Given the description of an element on the screen output the (x, y) to click on. 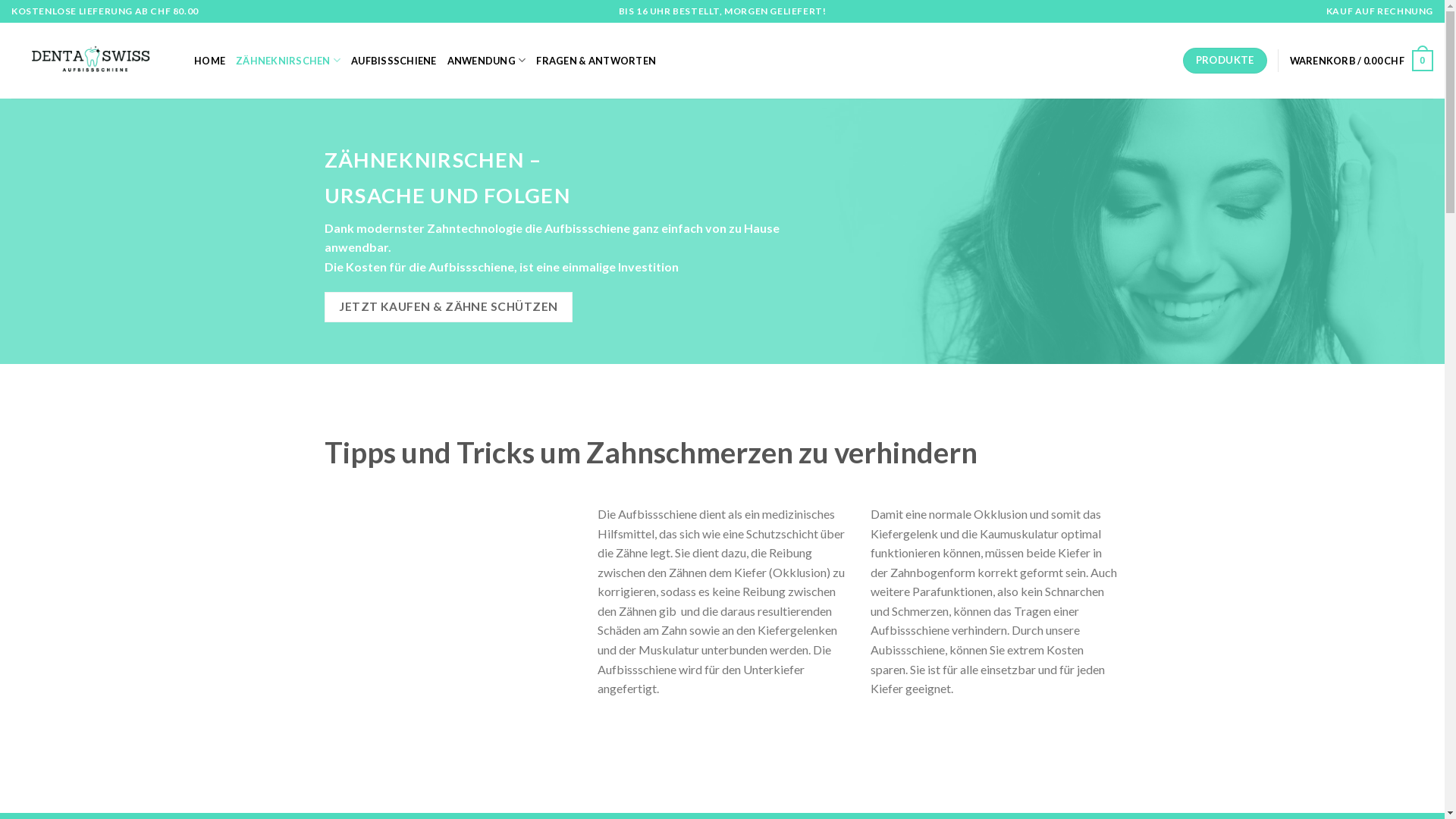
AUFBISSSCHIENE Element type: text (393, 60)
HOME Element type: text (209, 60)
ANWENDUNG Element type: text (486, 60)
FRAGEN & ANTWORTEN Element type: text (595, 60)
PRODUKTE Element type: text (1225, 60)
WARENKORB / 0.00 CHF
0 Element type: text (1361, 60)
DENTA SWISS Element type: hover (91, 60)
